Given the description of an element on the screen output the (x, y) to click on. 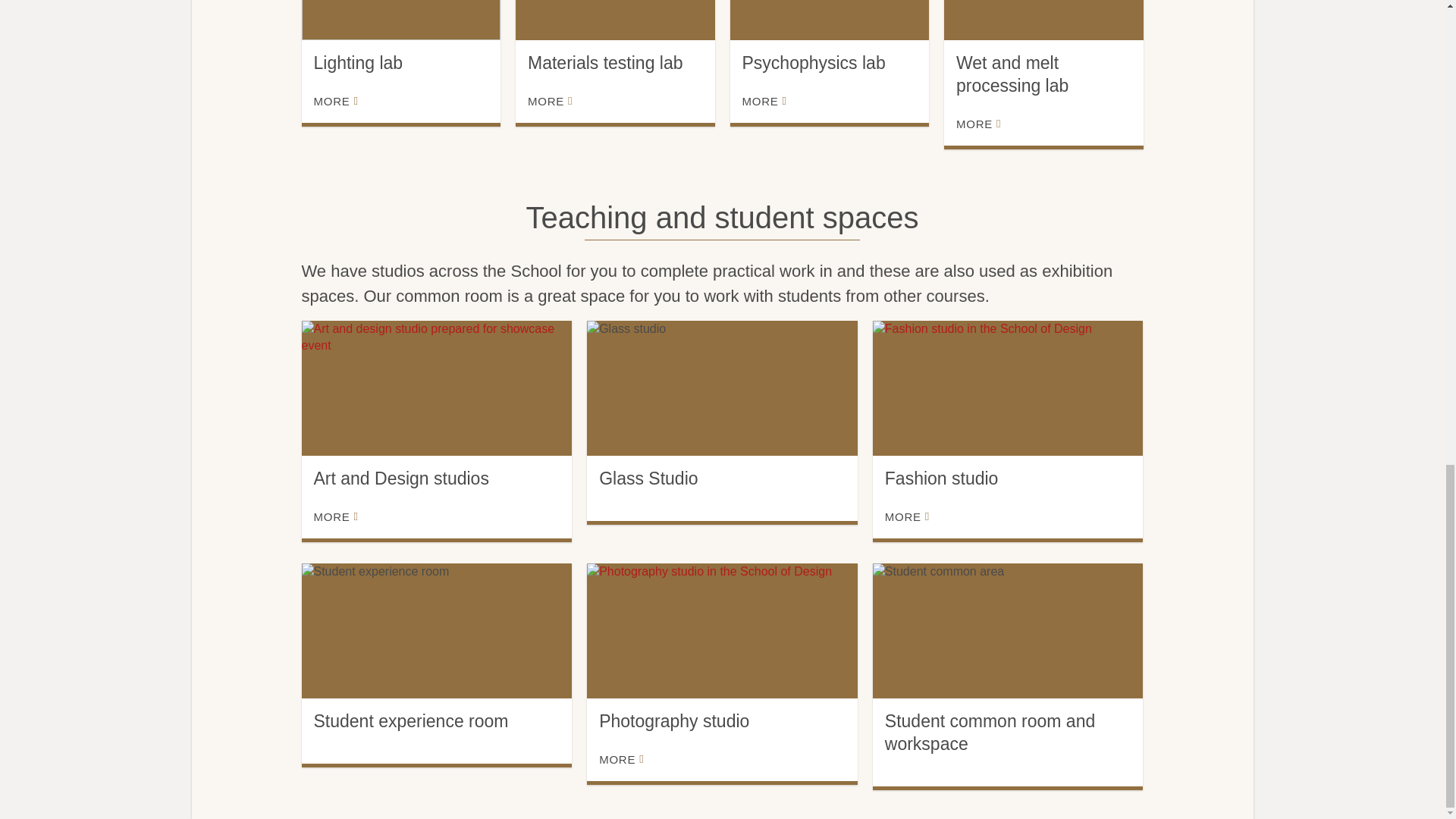
More on Lighting lab (336, 101)
Wet and melt processing lab (1042, 20)
More on Wet and melt processing lab (978, 124)
More on Psychophysics lab (763, 101)
Materials testing lab (614, 20)
Art and Design studios  (436, 388)
More on Materials testing lab (549, 101)
More on Art and Design studios  (336, 516)
Lighting lab (400, 20)
Psychophysics lab (828, 20)
